Given the description of an element on the screen output the (x, y) to click on. 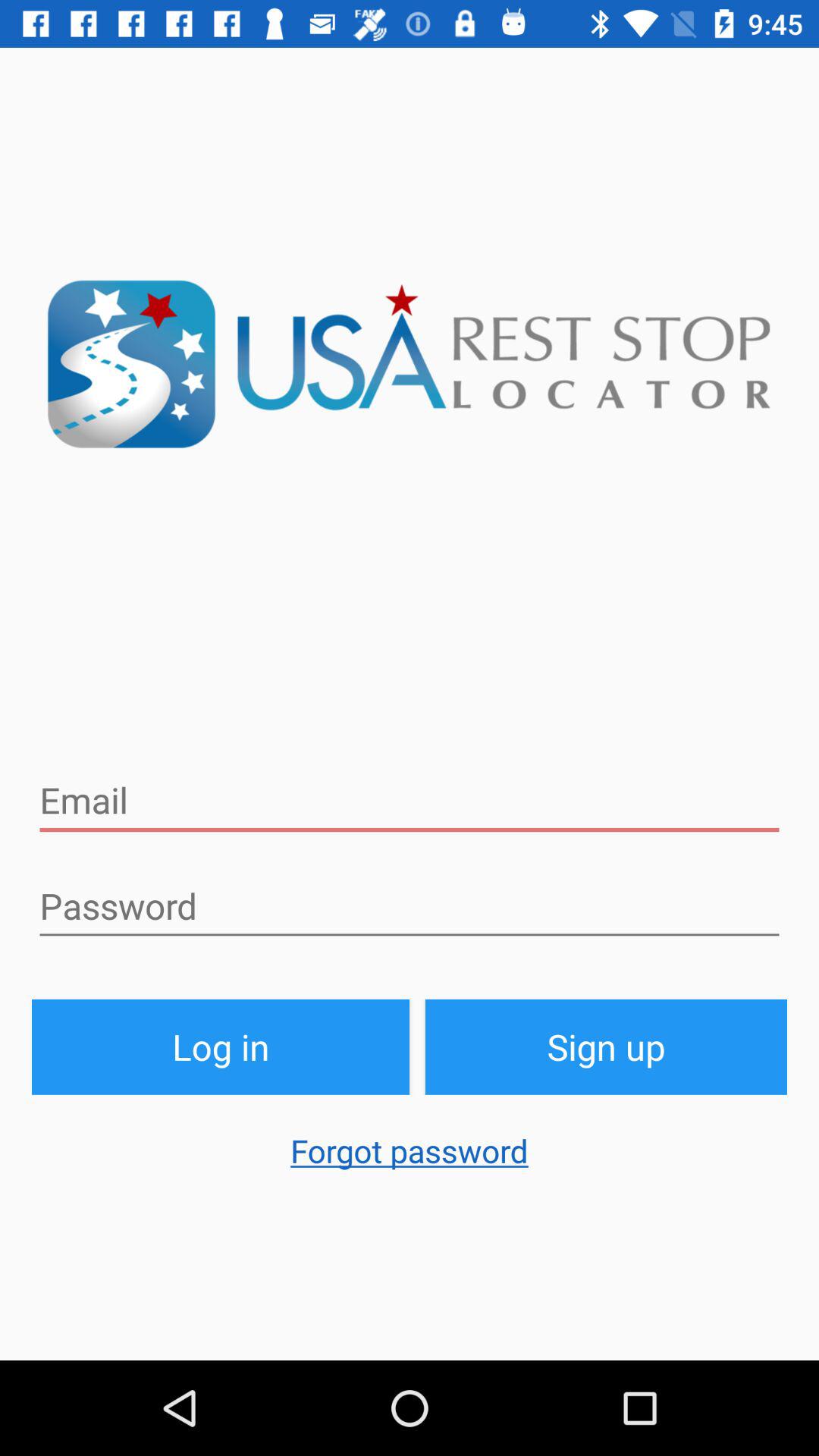
select item to the right of log in button (606, 1046)
